Given the description of an element on the screen output the (x, y) to click on. 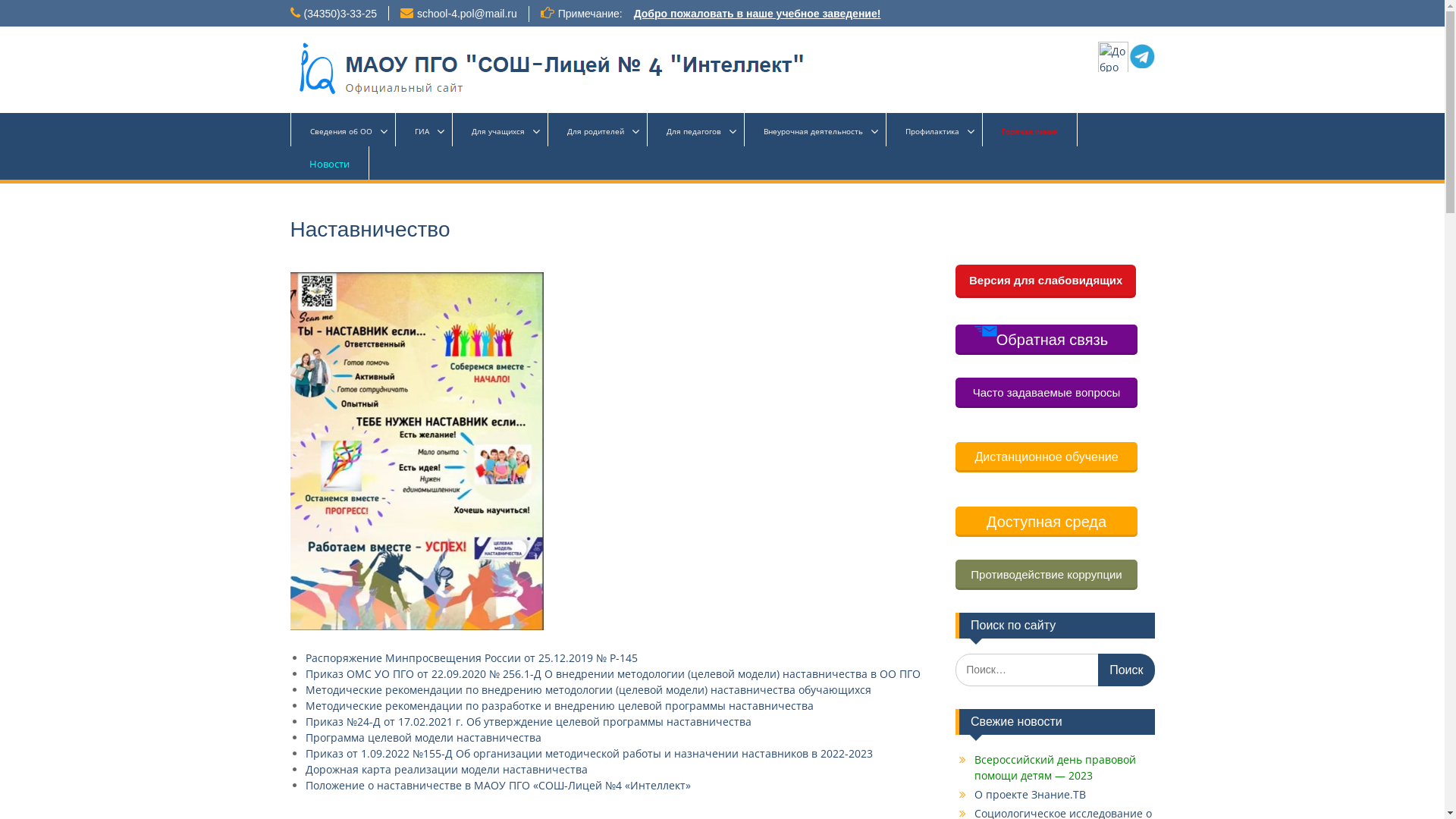
school-4.pol@mail.ru Element type: text (467, 13)
(34350)3-33-25 Element type: text (339, 13)
